Given the description of an element on the screen output the (x, y) to click on. 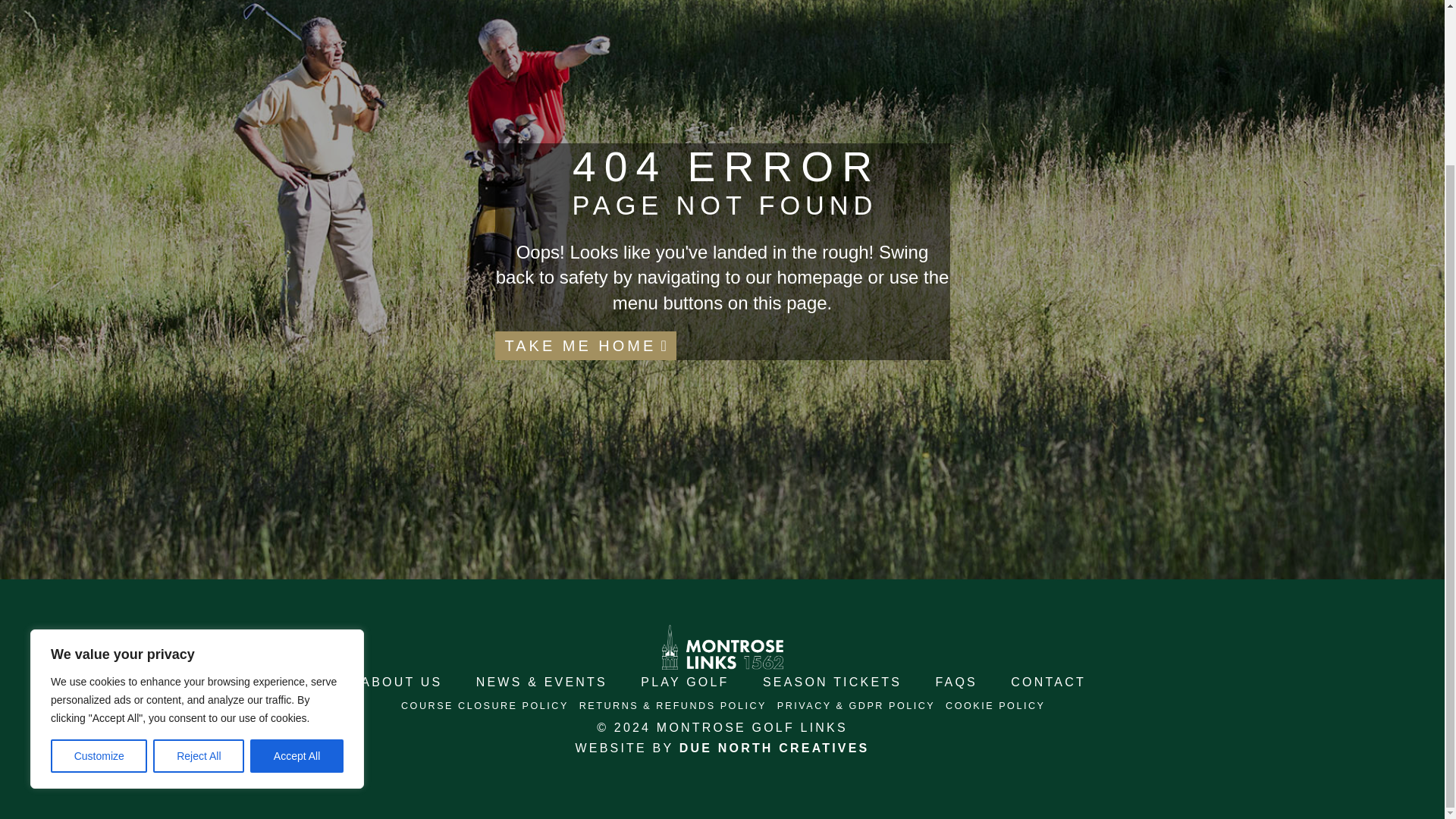
Customize (98, 559)
Accept All (296, 559)
Reject All (198, 559)
